Given the description of an element on the screen output the (x, y) to click on. 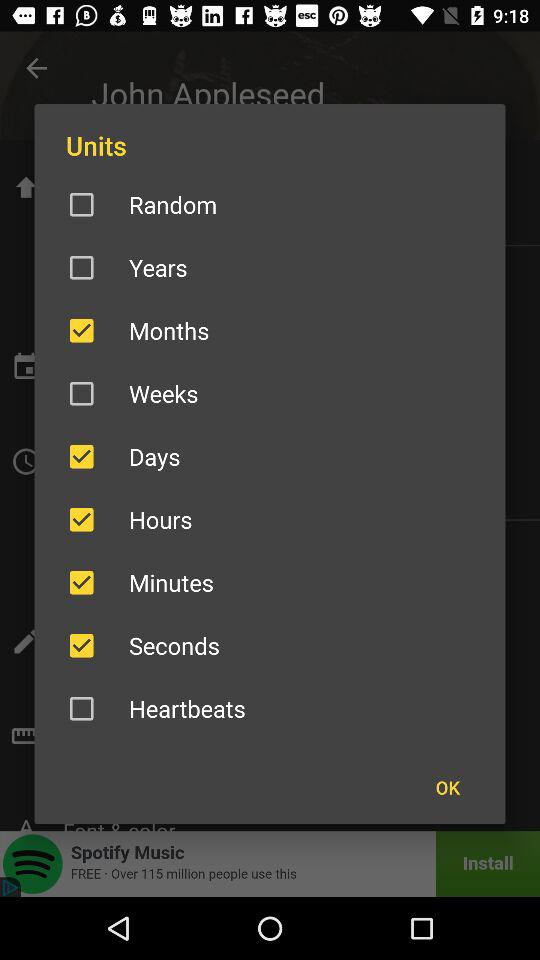
open the item below heartbeats (447, 787)
